Given the description of an element on the screen output the (x, y) to click on. 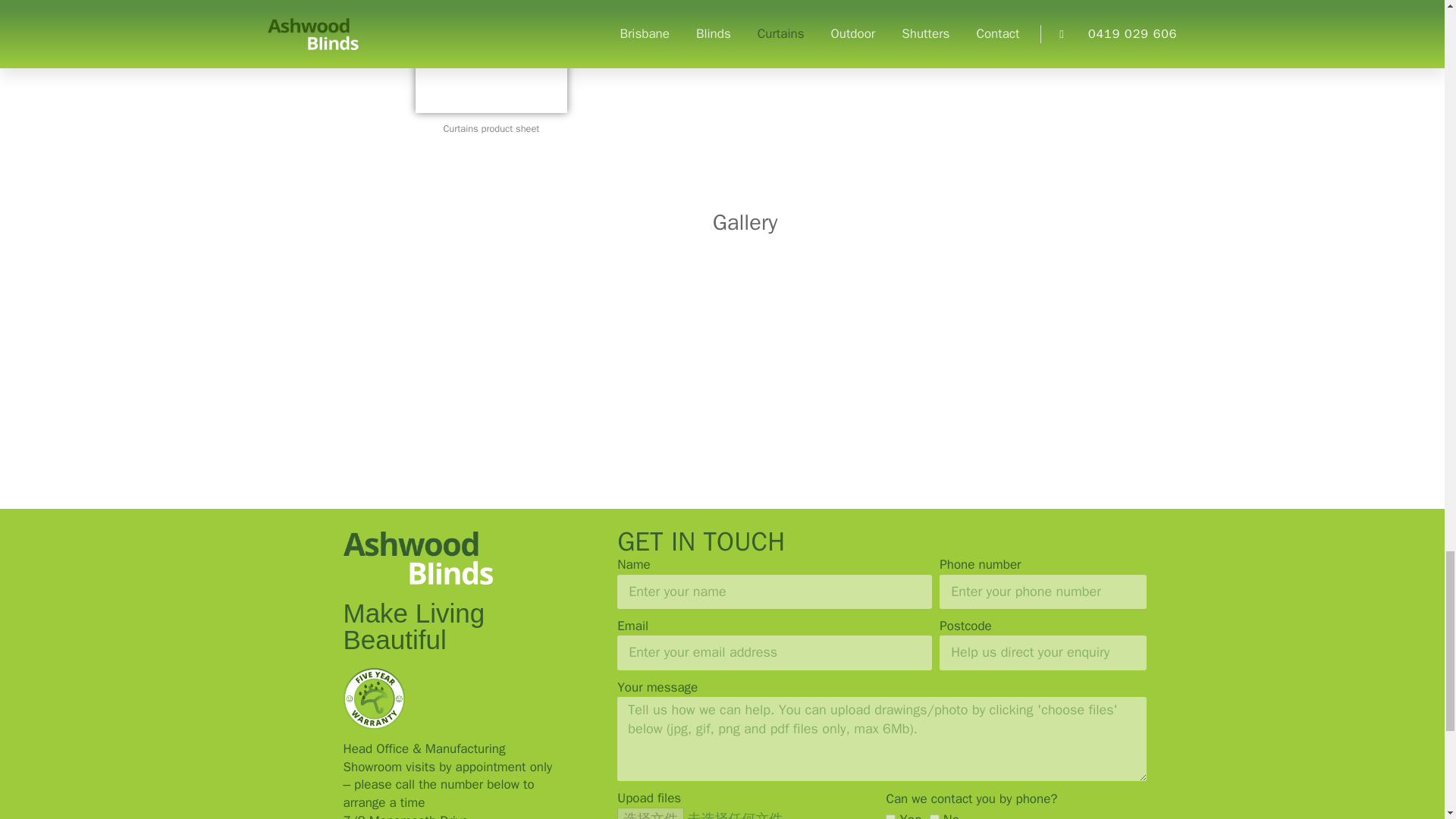
Brisbane curtains 13 (490, 56)
No (934, 816)
Yes (890, 816)
